Given the description of an element on the screen output the (x, y) to click on. 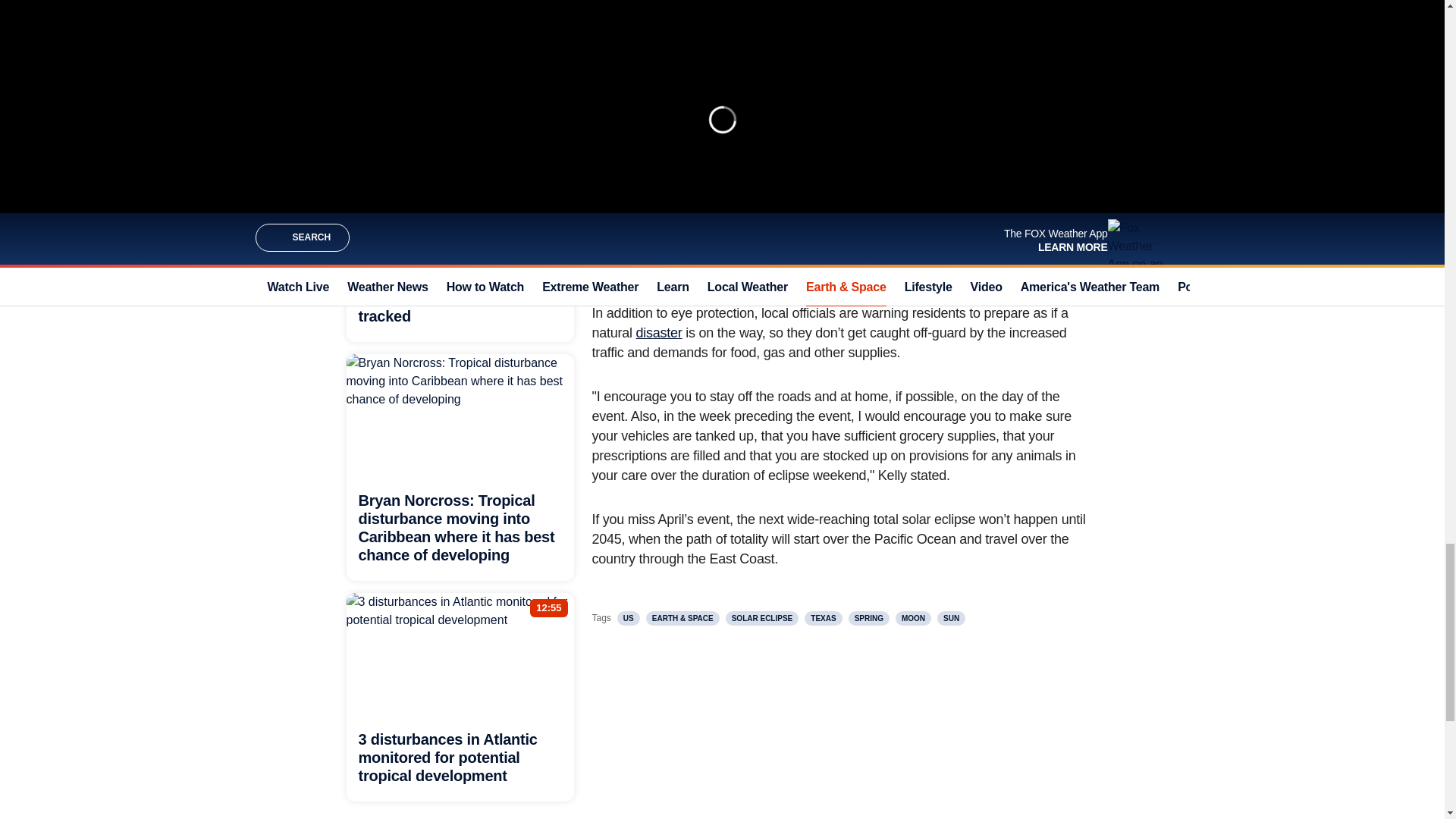
US (628, 617)
disaster (659, 332)
SPRING (868, 617)
TEXAS (823, 617)
SOLAR ECLIPSE (762, 617)
